Given the description of an element on the screen output the (x, y) to click on. 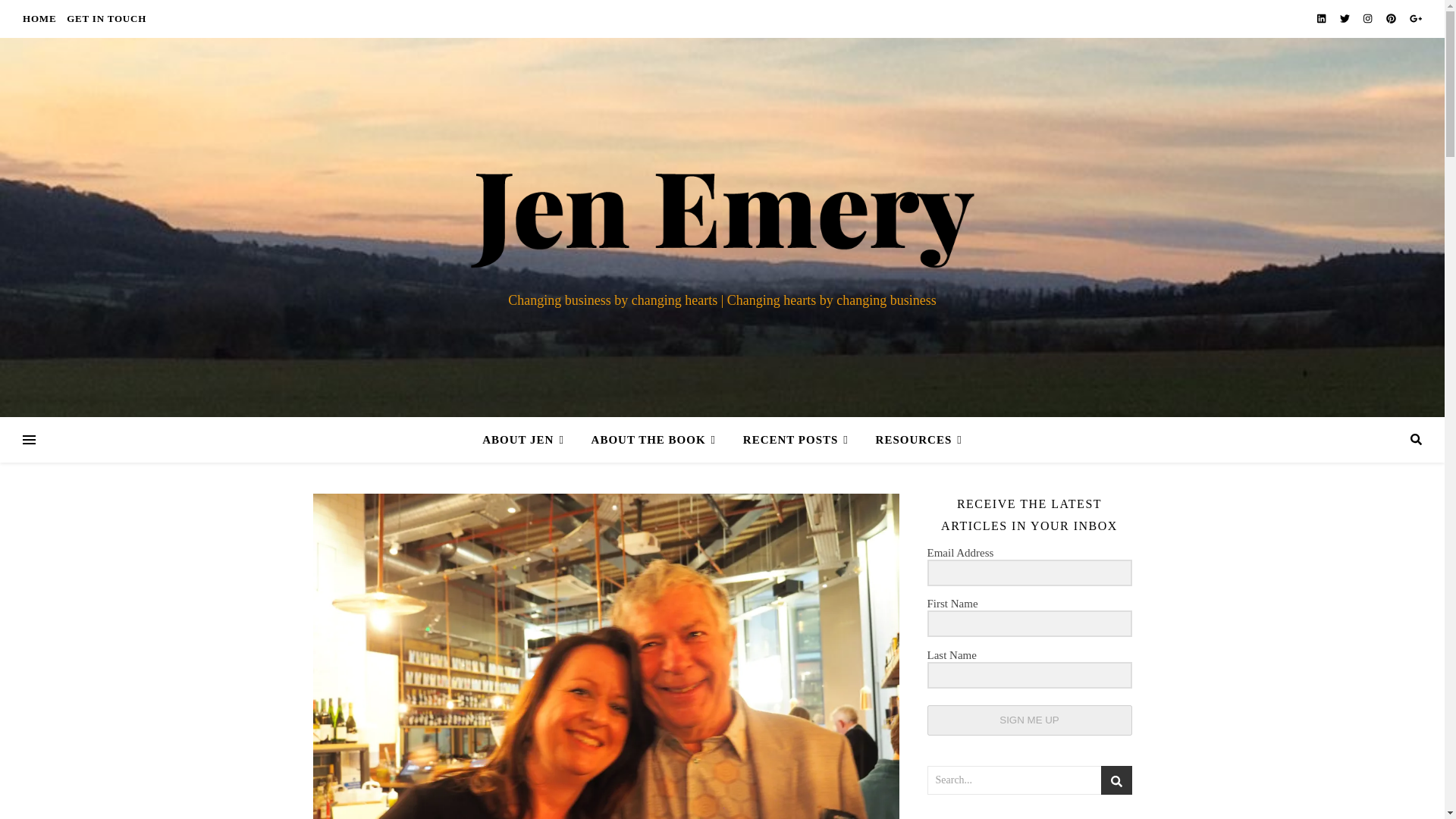
ABOUT JEN (528, 439)
RECENT POSTS (795, 439)
HOME (41, 18)
GET IN TOUCH (104, 18)
ABOUT THE BOOK (653, 439)
Jen Emery (722, 204)
RESOURCES (912, 439)
